Given the description of an element on the screen output the (x, y) to click on. 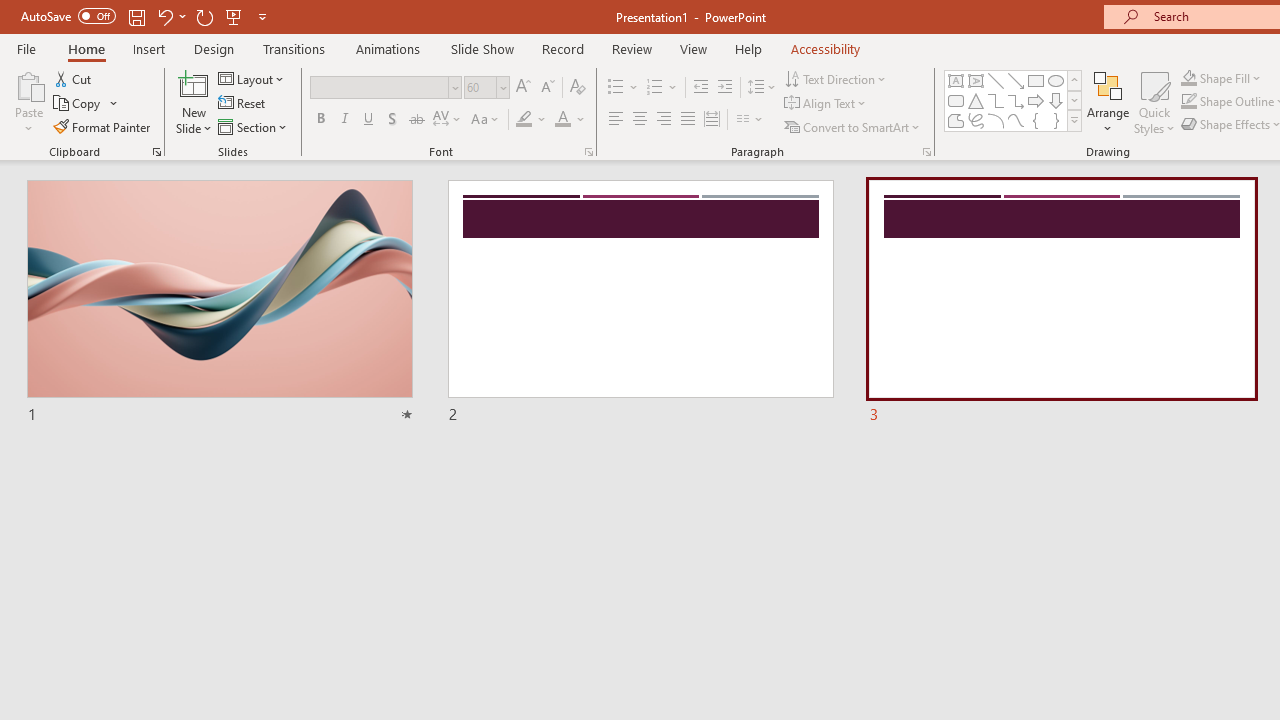
Character Spacing (447, 119)
Shape Outline Blue, Accent 1 (1188, 101)
Align Right (663, 119)
Layout (252, 78)
Increase Indent (725, 87)
